Given the description of an element on the screen output the (x, y) to click on. 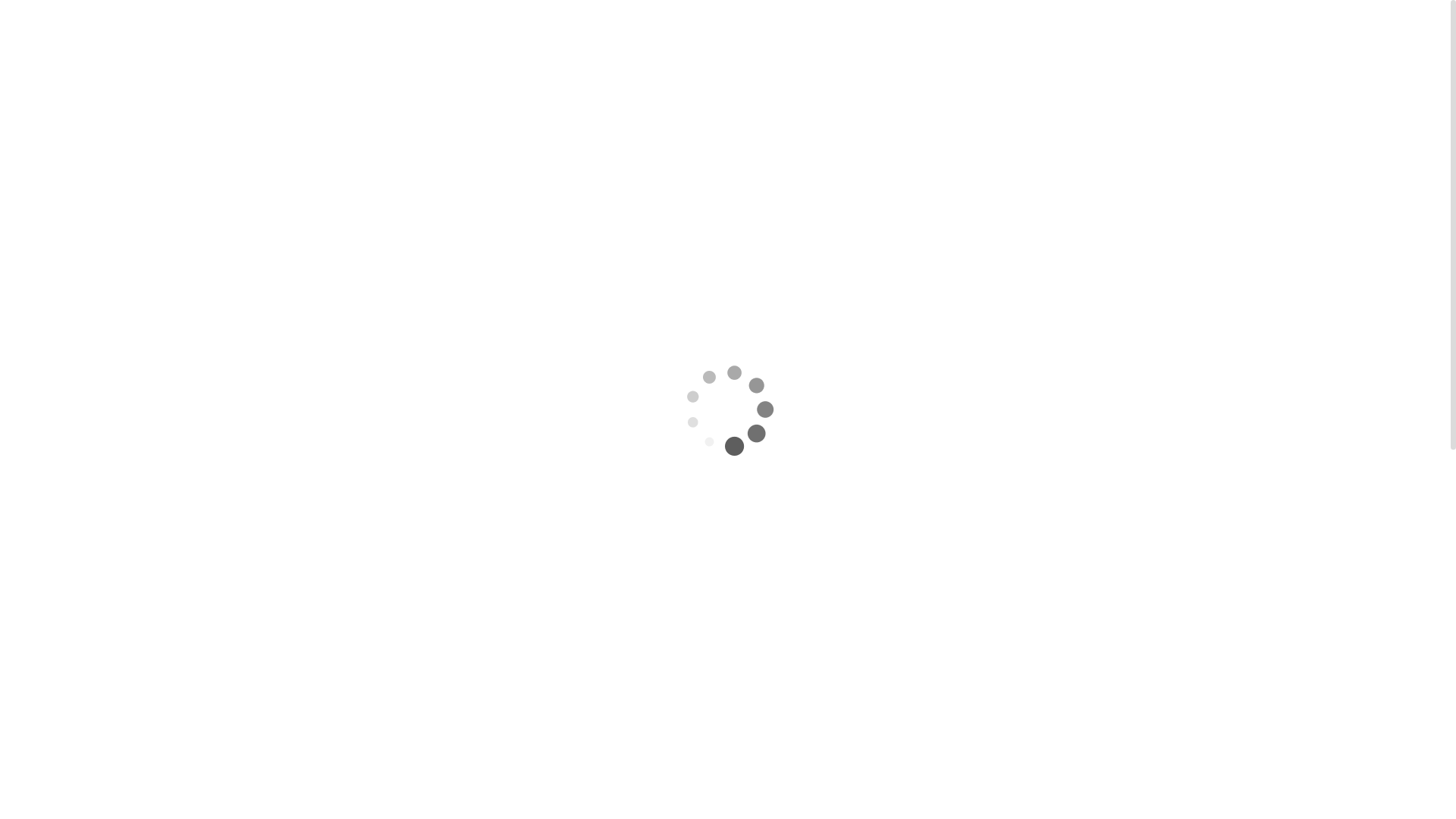
HANDJOB BLOWJOB VIDEO Element type: text (577, 25)
asian futanari porn Element type: text (593, 523)
FREE BIG BLACK COCK SEX MOVIES Element type: text (741, 25)
Moms secret sex tape Element type: text (939, 613)
Muscle girl blowjob Element type: text (948, 377)
HAIRY BLACKTEENS Element type: text (890, 25)
Asian white girl porn Element type: text (706, 383)
Wild orgy fuck Element type: text (1031, 739)
Hot black gay sex photos Element type: text (945, 644)
SEXY YOUNG TUBES Element type: text (1005, 25)
GAY HOOKERS PORN Element type: text (563, 48)
Teen boob sex videos Element type: text (938, 739)
KIK KARDASHIAN PORNO Element type: text (634, 112)
cute black porn stars Element type: text (651, 497)
Milf teen lesbian tubes Element type: text (939, 676)
Brutal sex gay porn Element type: text (948, 444)
gay porn picture Element type: text (651, 787)
Top 10 best blowjobs Element type: text (953, 477)
Mikarr Element type: text (549, 136)
Free anal toying porn Element type: text (937, 707)
SITEMAP Element type: text (761, 48)
Hidden cam porn tubes Element type: text (958, 410)
AMATURE SWINGER ORGY Element type: text (1133, 25)
